Given the description of an element on the screen output the (x, y) to click on. 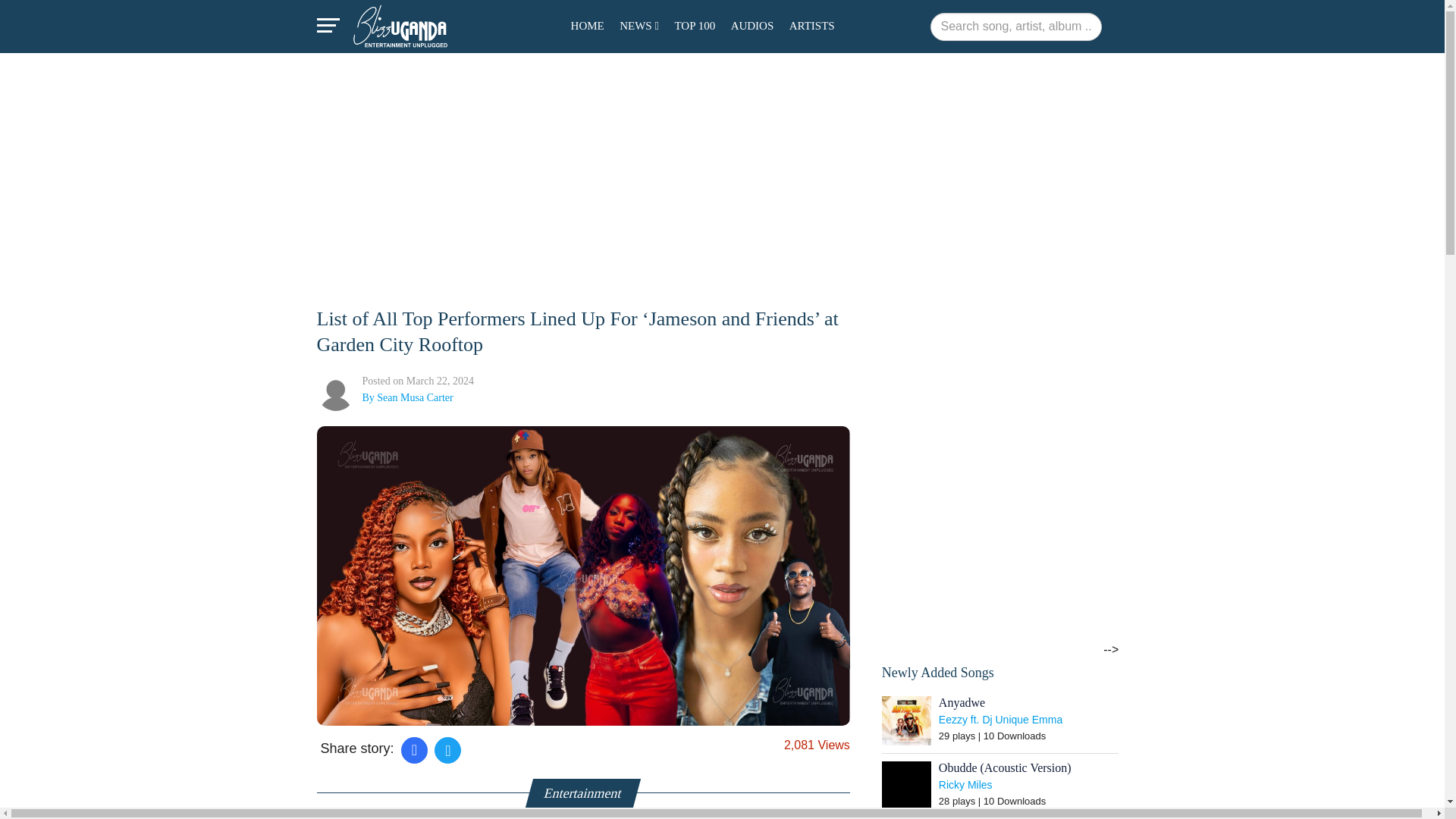
Advertisement (986, 539)
HOME (587, 24)
NEWS (638, 24)
Advertisement (430, 188)
Anyadwe (906, 720)
